Given the description of an element on the screen output the (x, y) to click on. 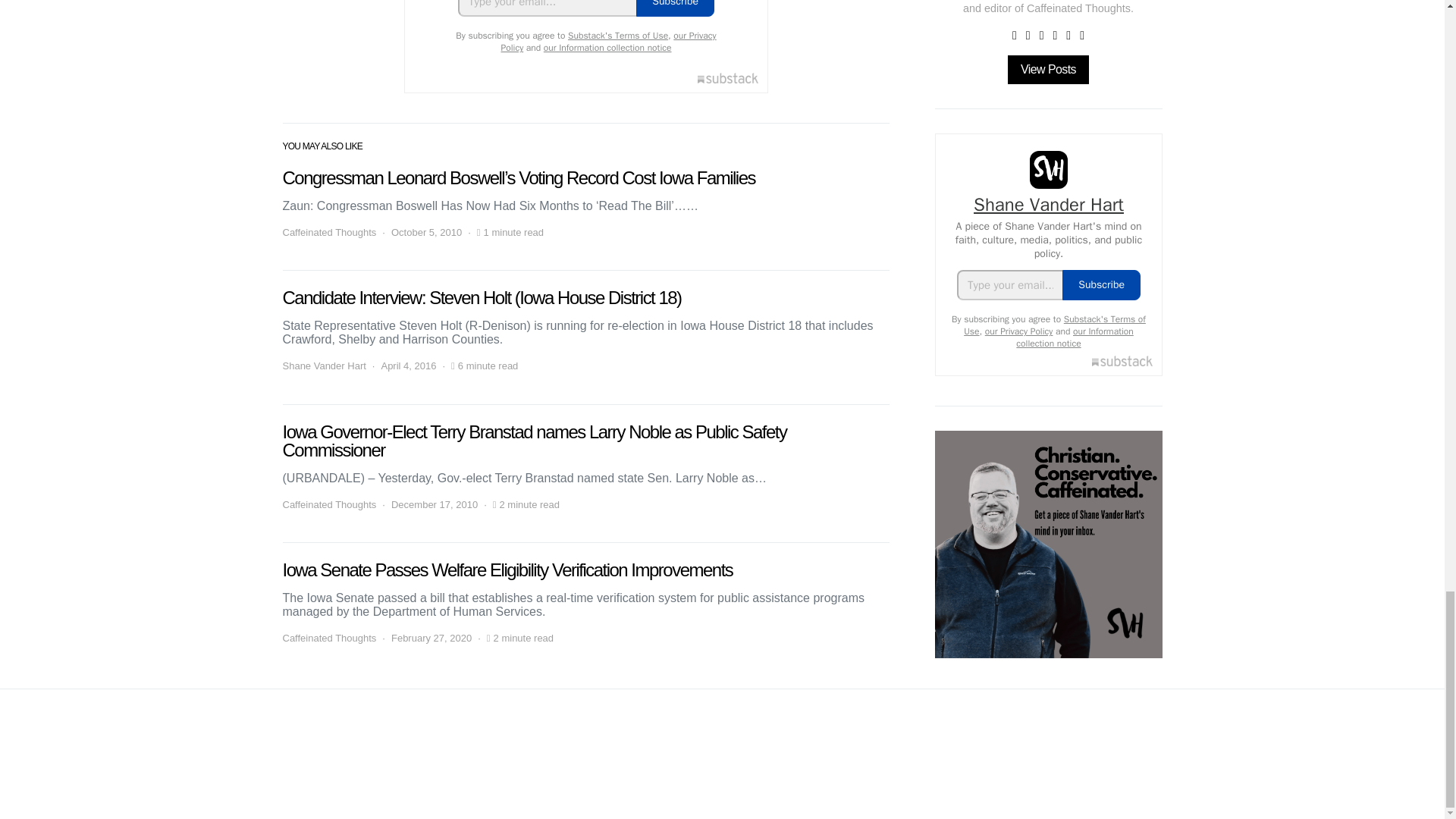
View all posts by Caffeinated Thoughts (328, 504)
View all posts by Shane Vander Hart (323, 365)
View all posts by Caffeinated Thoughts (328, 231)
View all posts by Caffeinated Thoughts (328, 638)
